Given the description of an element on the screen output the (x, y) to click on. 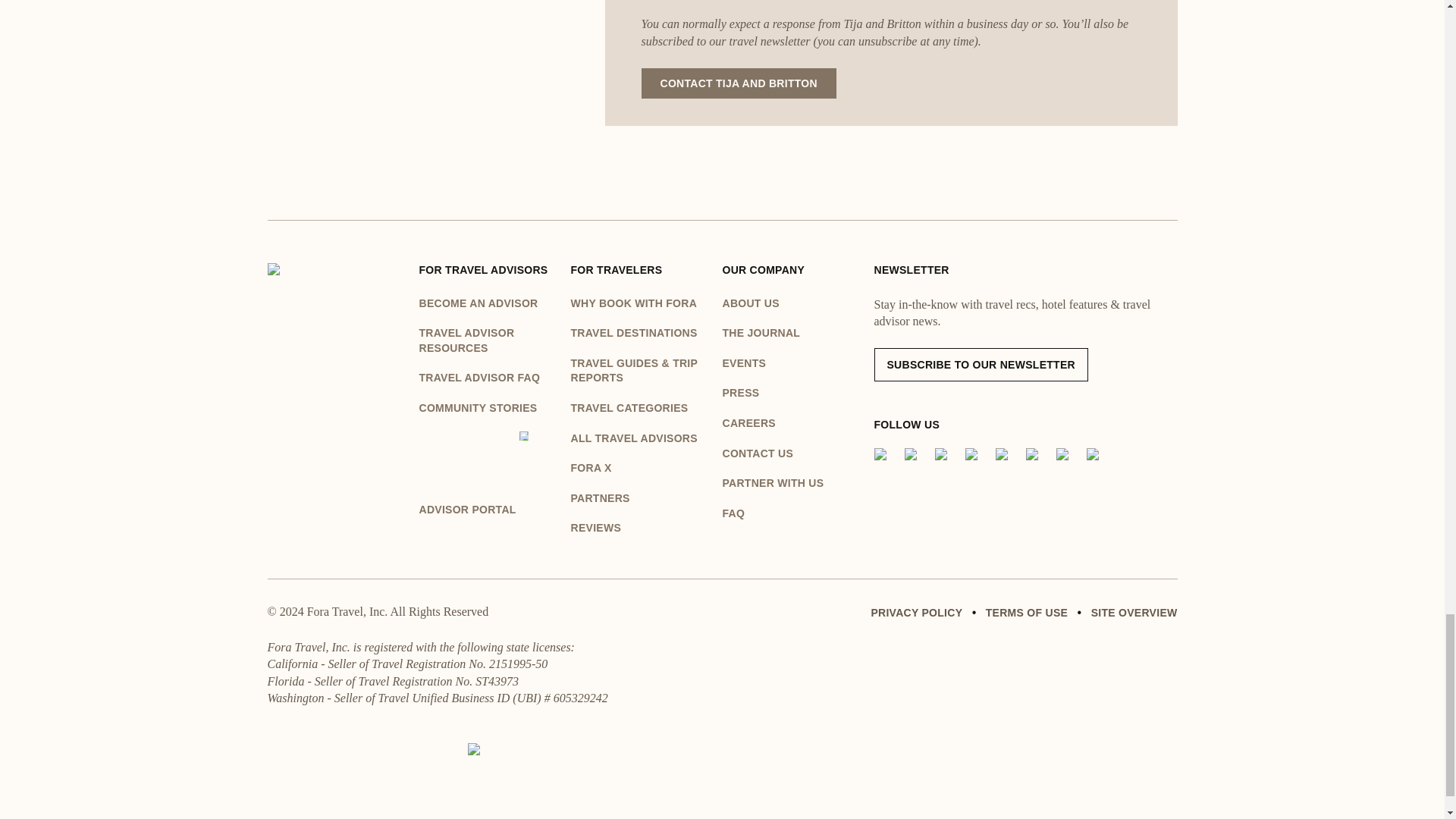
BECOME AN ADVISOR (486, 304)
COMMUNITY STORIES (486, 408)
ABOUT US (797, 304)
TRAVEL DESTINATIONS (638, 333)
EVENTS (797, 363)
PARTNERS (638, 498)
TRAVEL ADVISOR FAQ (486, 378)
ALL TRAVEL ADVISORS (638, 438)
WHY BOOK WITH FORA (638, 304)
REVIEWS (638, 528)
CONTACT TIJA AND BRITTON (738, 82)
TRAVEL ADVISOR RESOURCES (486, 340)
FORA X (638, 468)
THE JOURNAL (797, 333)
ADVISOR PORTAL (486, 474)
